Given the description of an element on the screen output the (x, y) to click on. 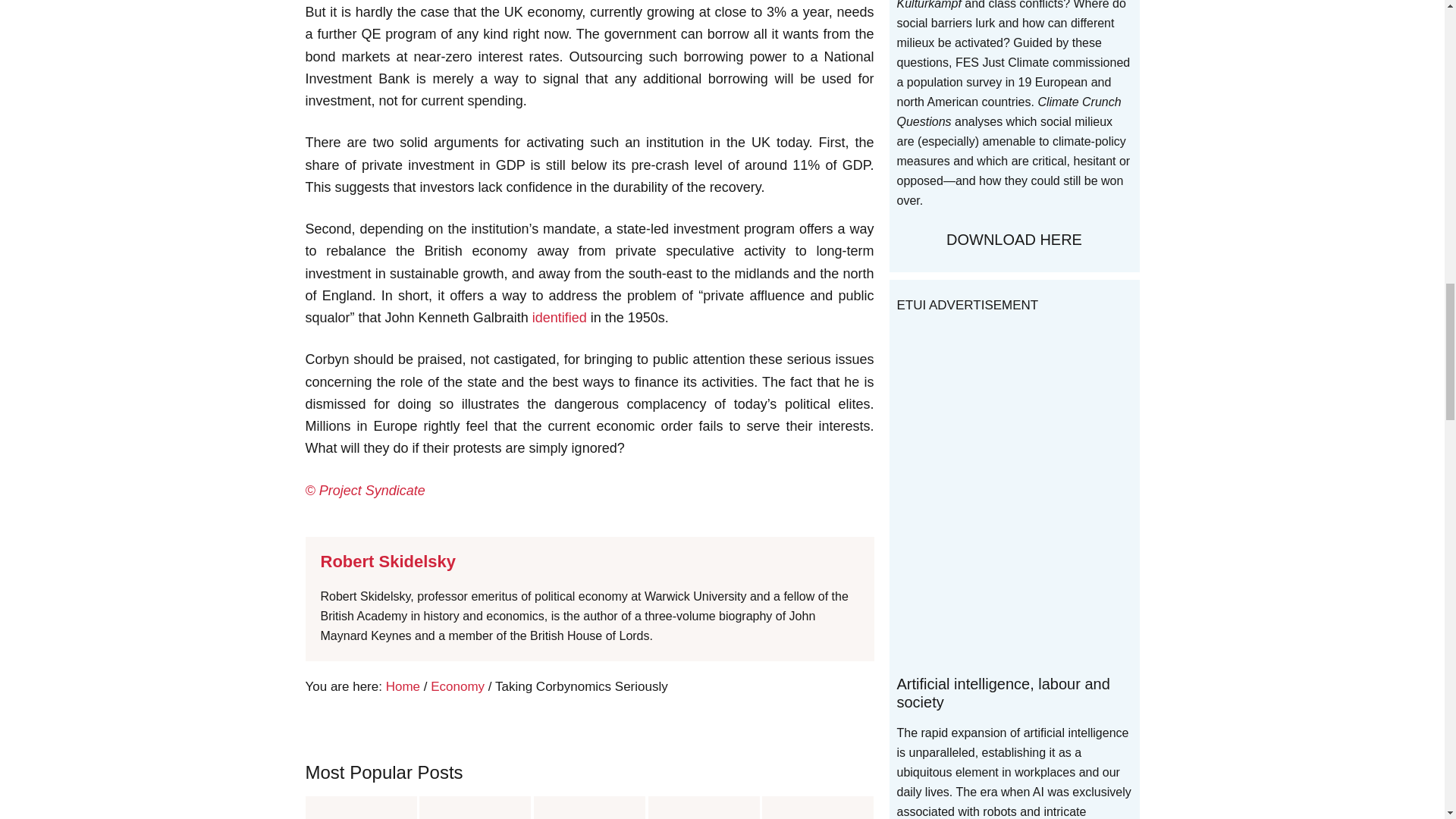
Robert Skidelsky (387, 561)
Home (402, 686)
identified (559, 317)
Economy (457, 686)
